Given the description of an element on the screen output the (x, y) to click on. 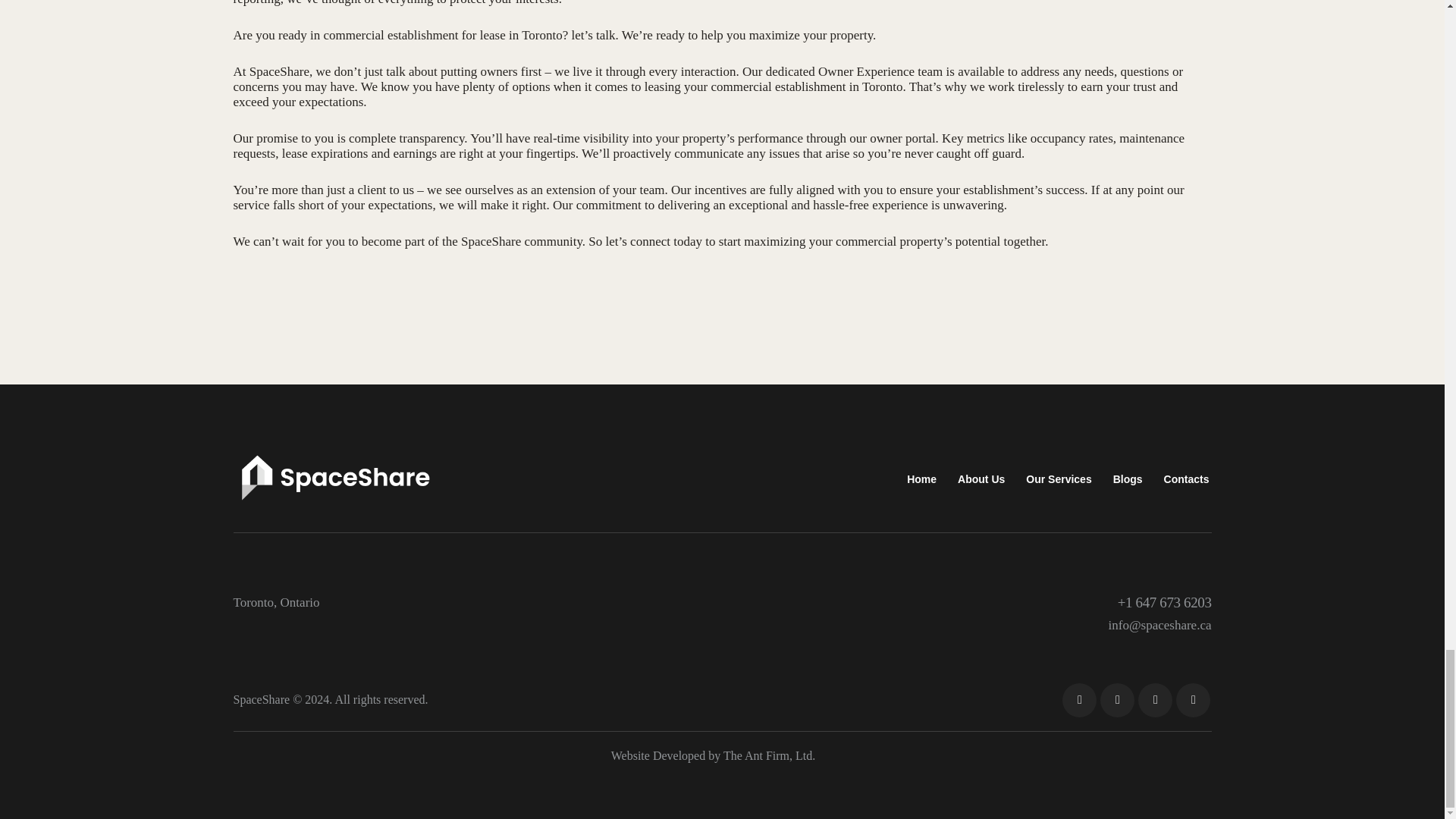
Blogs (1127, 480)
Home (921, 480)
Our Services (1058, 480)
About Us (980, 480)
